Given the description of an element on the screen output the (x, y) to click on. 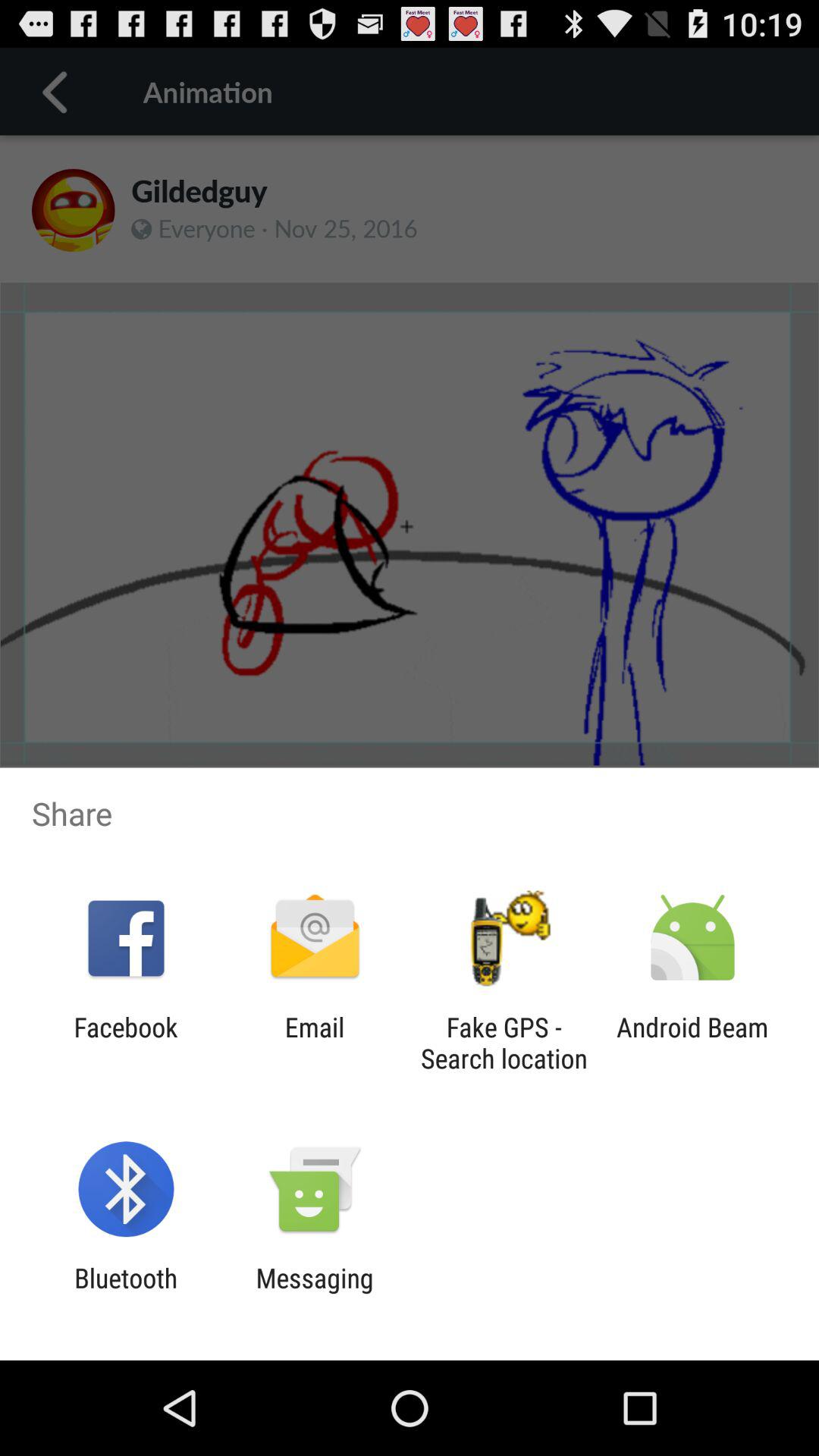
launch the app next to the fake gps search app (692, 1042)
